Given the description of an element on the screen output the (x, y) to click on. 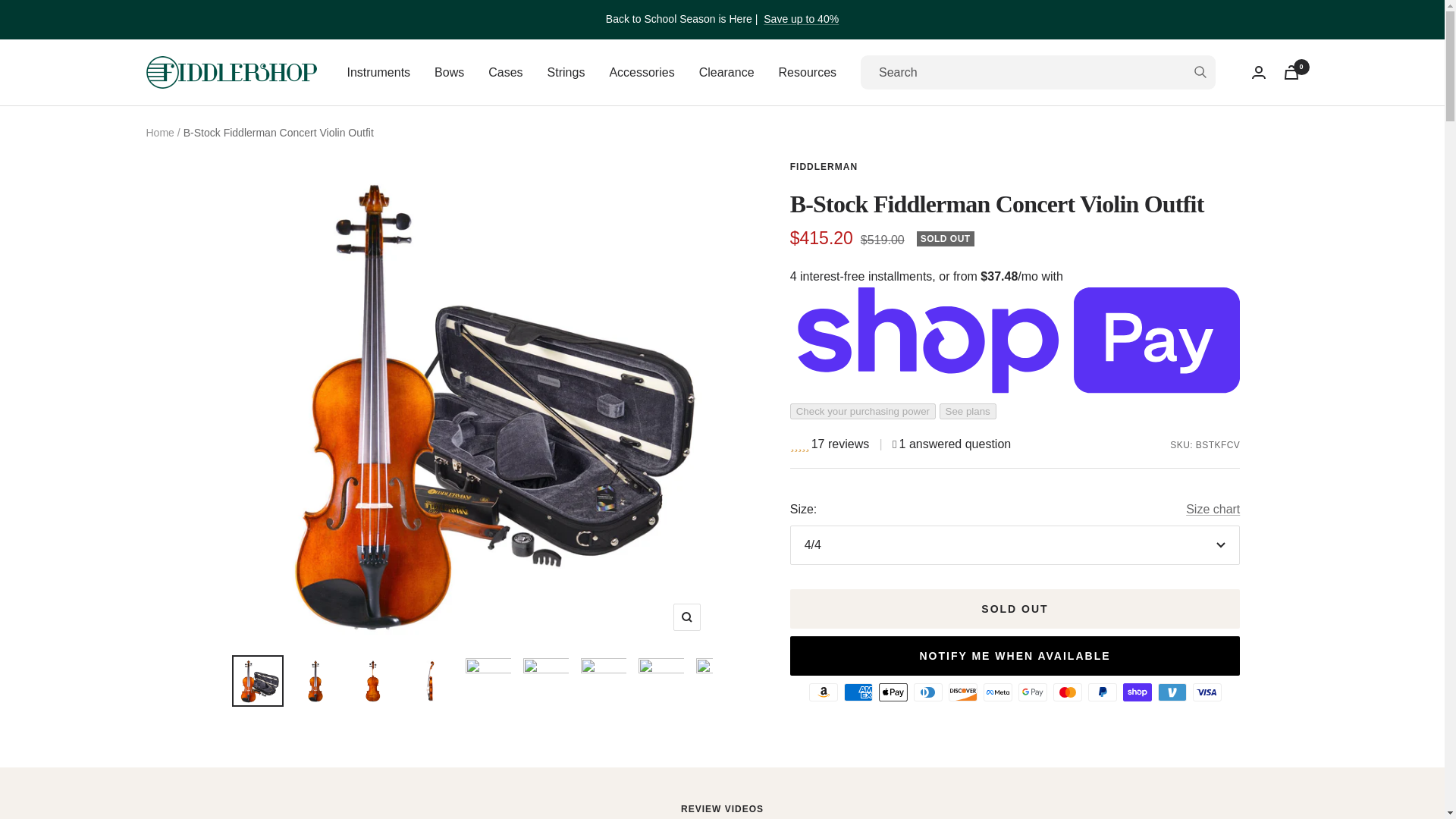
Accessories (641, 72)
Zoom (686, 616)
Resources (806, 72)
Fiddlershop (230, 72)
Strings (566, 72)
Clearance (726, 72)
Bows (448, 72)
Cases (504, 72)
Instruments (378, 72)
Home (159, 132)
